Given the description of an element on the screen output the (x, y) to click on. 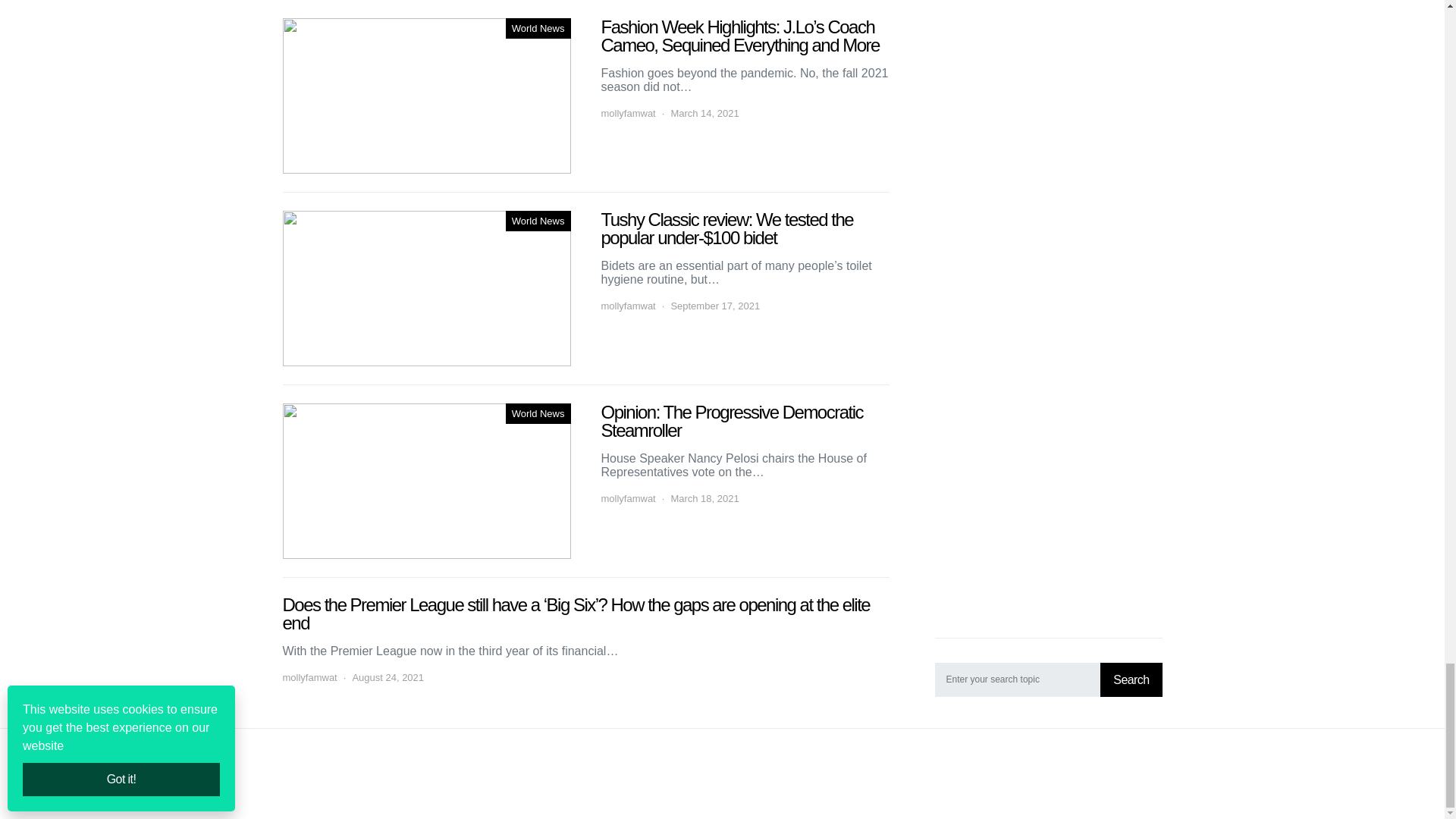
View all posts by mollyfamwat (627, 113)
View all posts by mollyfamwat (309, 677)
View all posts by mollyfamwat (627, 305)
View all posts by mollyfamwat (627, 498)
